Given the description of an element on the screen output the (x, y) to click on. 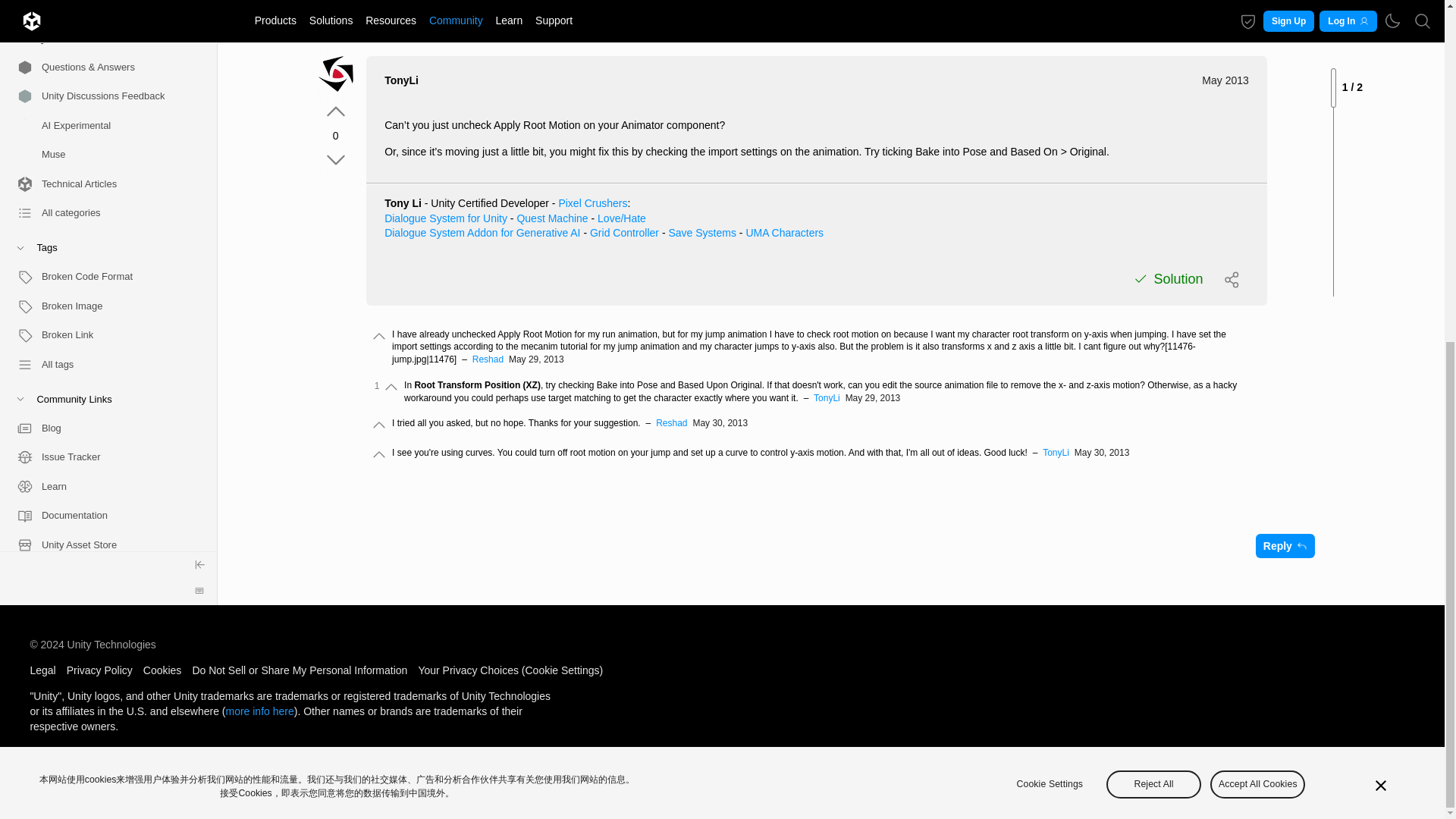
Advocates (102, 235)
Play (102, 382)
Events (102, 294)
Instagram (102, 527)
Toggle section (102, 32)
Unity Asset Store (102, 177)
YouTube (102, 440)
X (102, 469)
User Groups (102, 206)
Unity Pulse (102, 265)
